Given the description of an element on the screen output the (x, y) to click on. 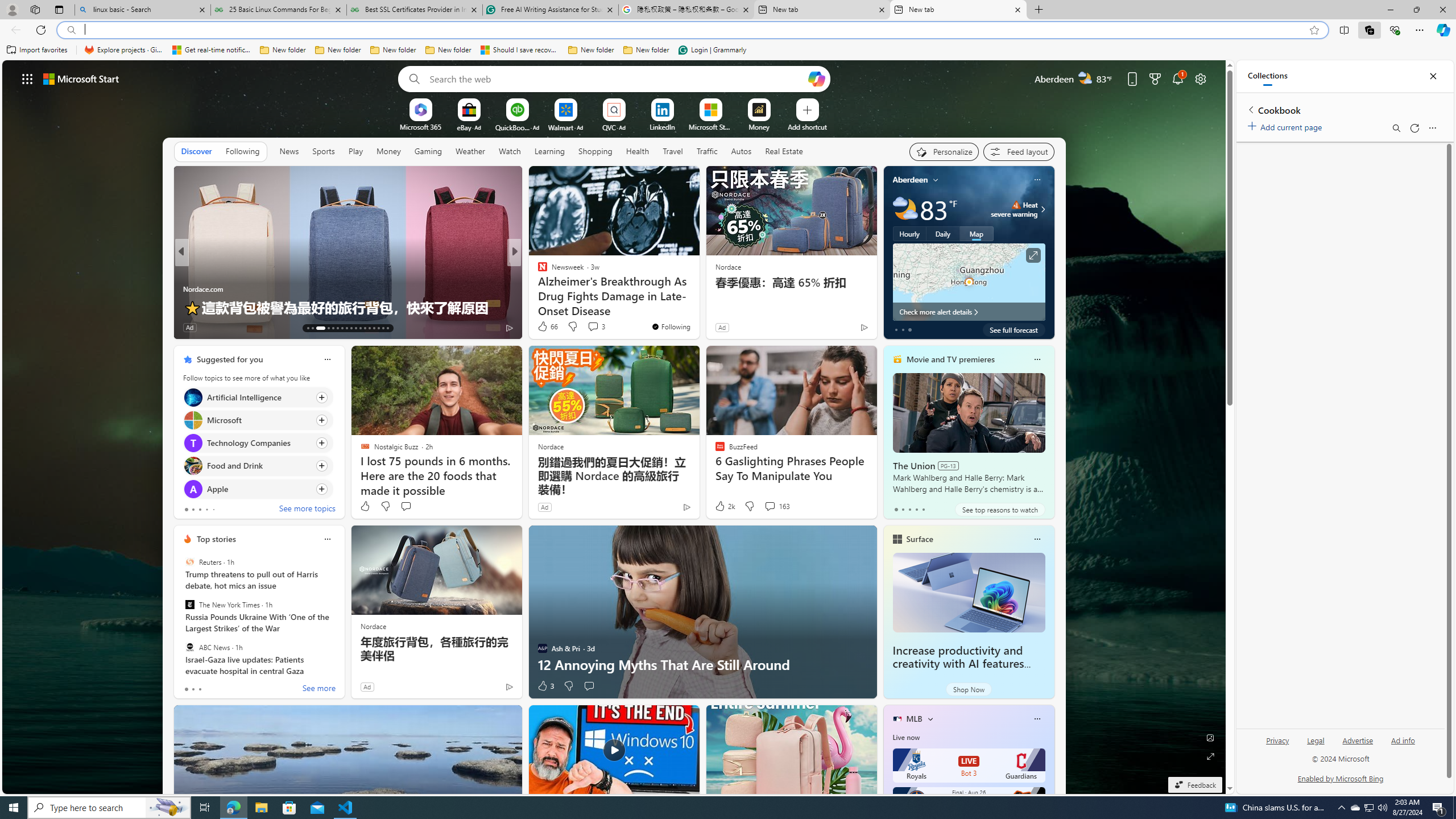
328 Like (545, 327)
Best SSL Certificates Provider in India - GeeksforGeeks (414, 9)
68 Like (543, 327)
Eco Hugo (187, 270)
Notifications (1177, 78)
Import favorites (36, 49)
Watch (509, 151)
